Given the description of an element on the screen output the (x, y) to click on. 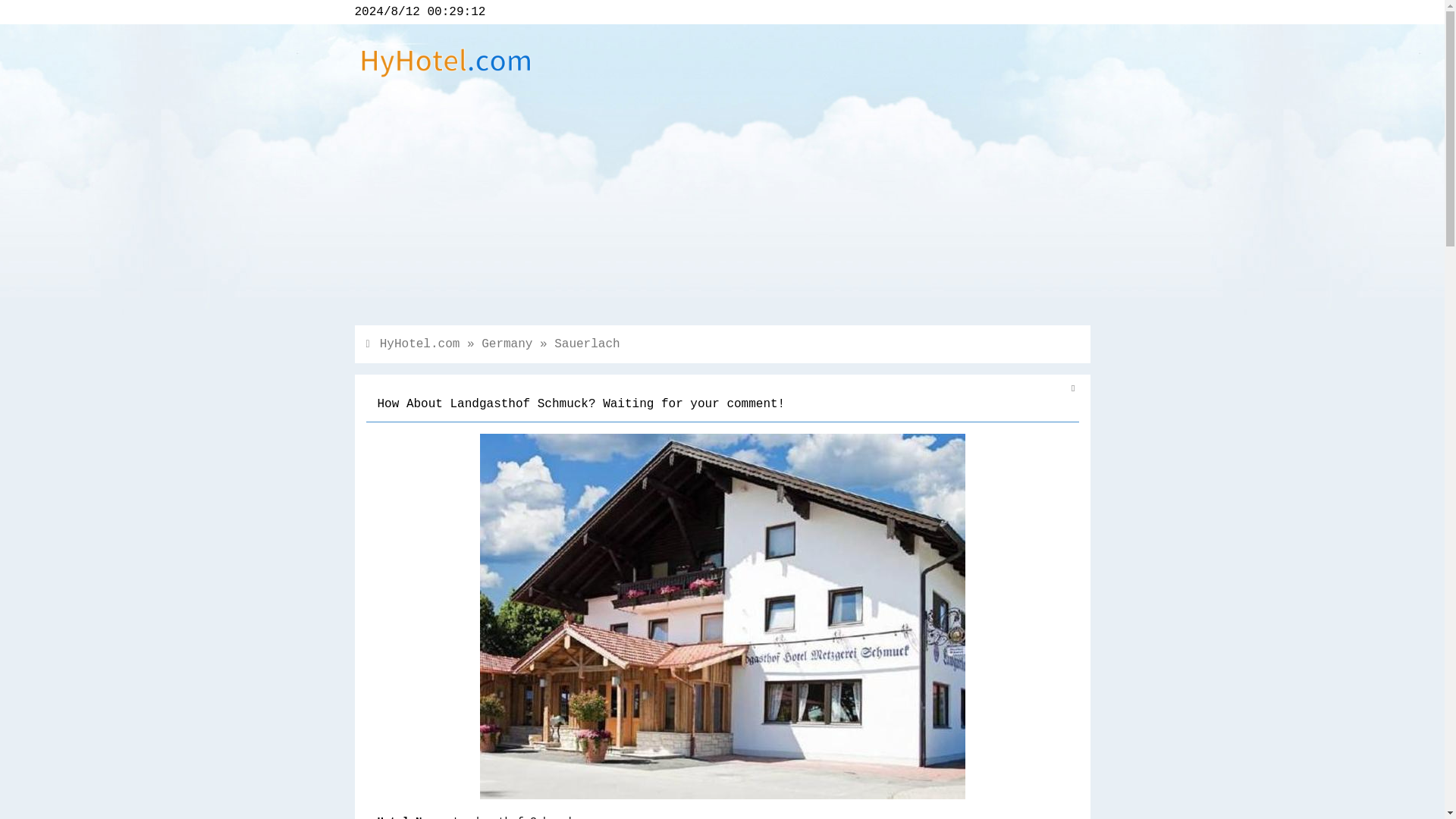
HyHotel.com (446, 79)
Germany (506, 344)
HyHotel.com (420, 344)
Sauerlach (587, 344)
